Given the description of an element on the screen output the (x, y) to click on. 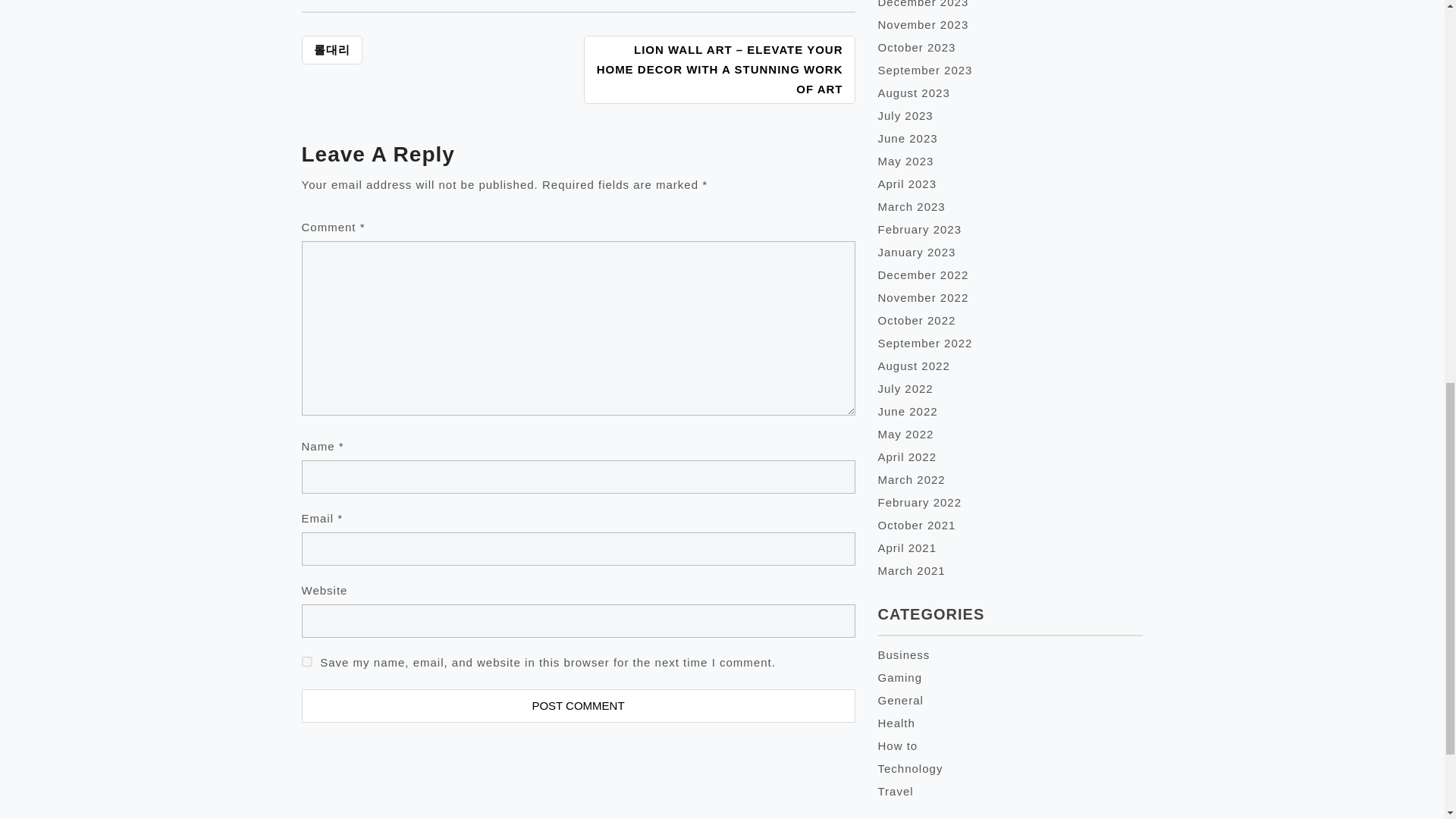
Post Comment (578, 705)
yes (307, 661)
December 2023 (923, 4)
Post Comment (578, 705)
